Given the description of an element on the screen output the (x, y) to click on. 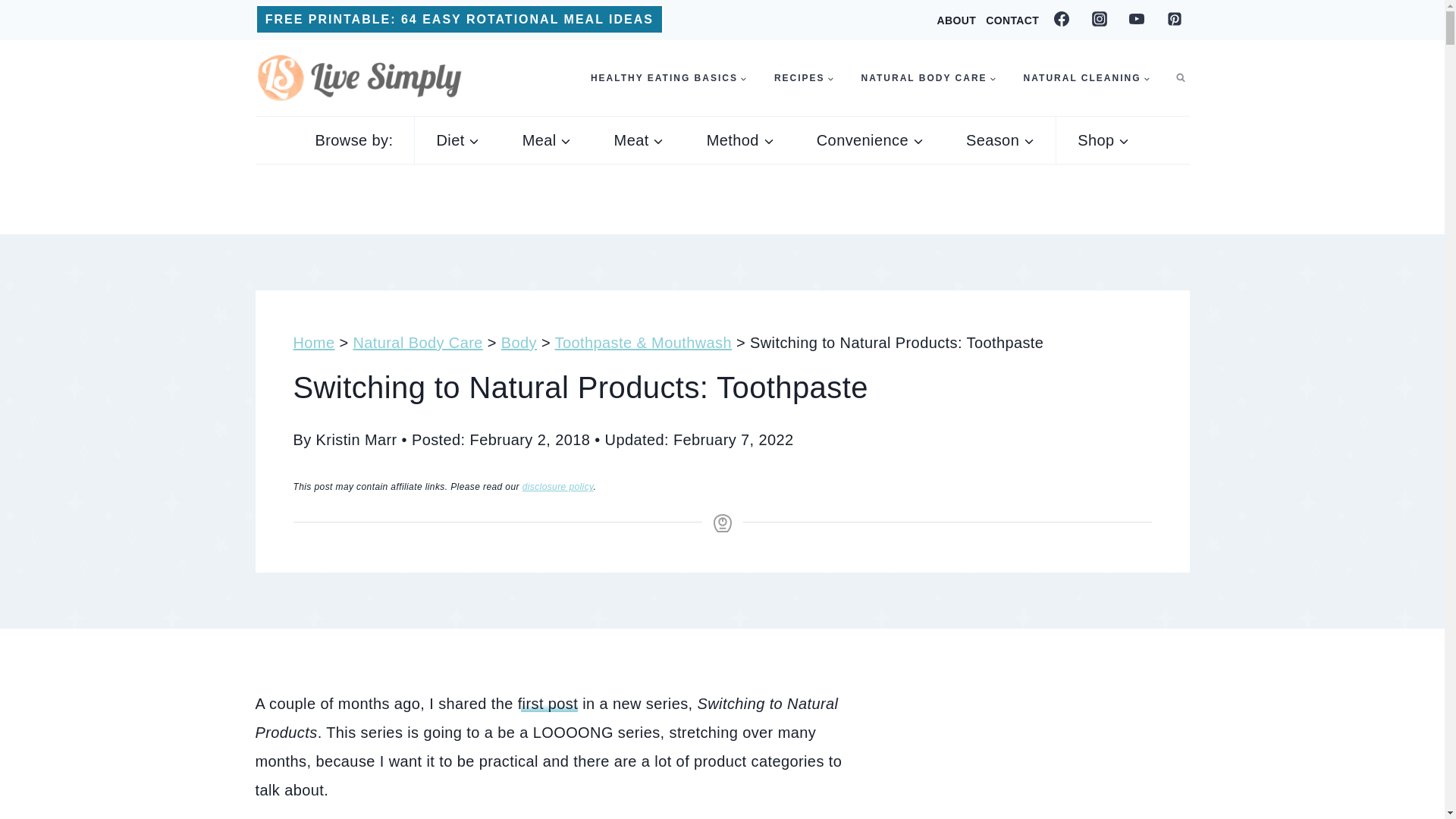
CONTACT (1012, 20)
Recipes (803, 78)
ABOUT (955, 20)
RECIPES (803, 78)
FREE PRINTABLE: 64 EASY ROTATIONAL MEAL IDEAS (458, 19)
HEALTHY EATING BASICS (668, 78)
